Given the description of an element on the screen output the (x, y) to click on. 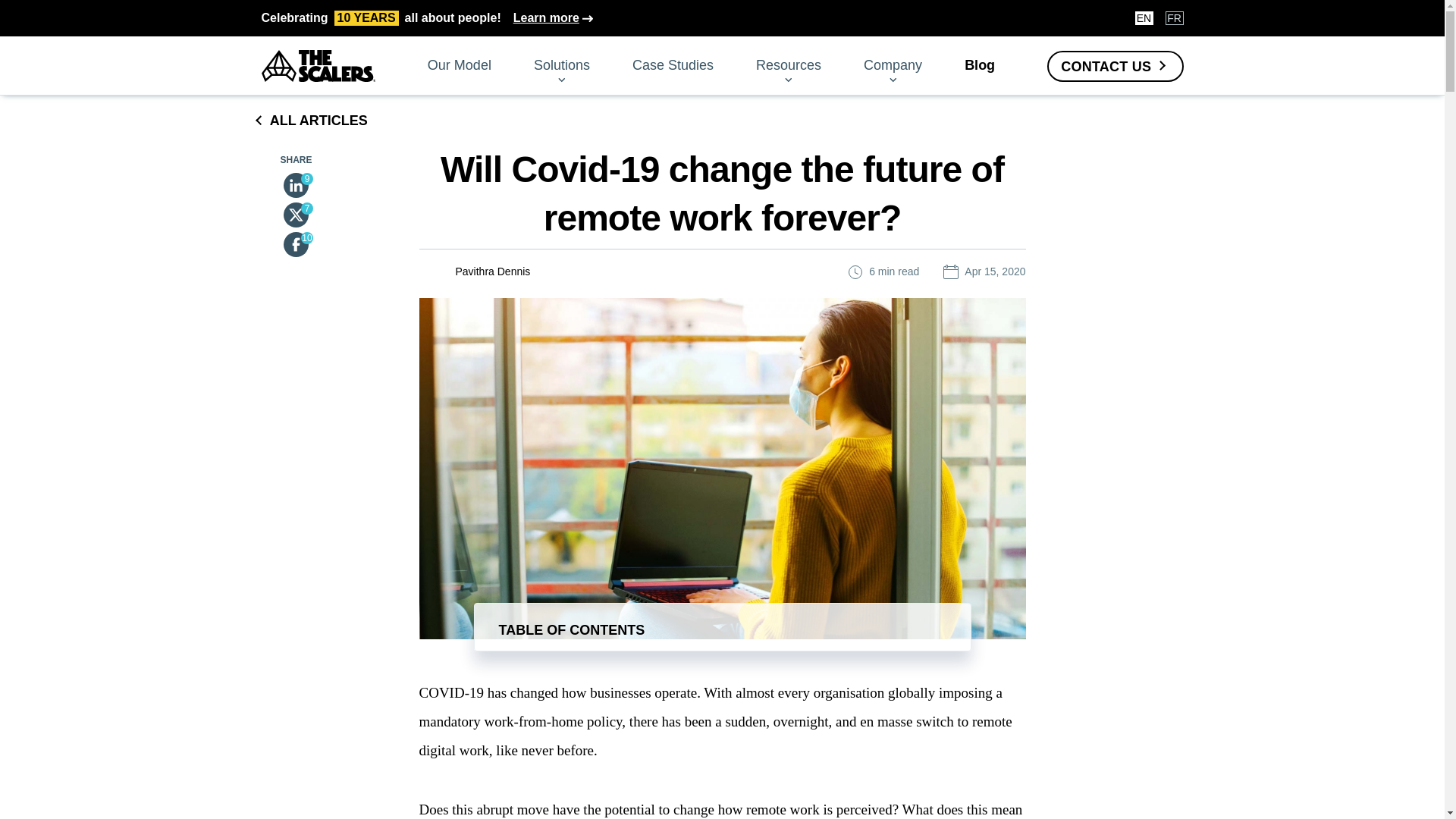
CONTACT US (1114, 65)
FR (1173, 18)
Company (892, 65)
The Scalers Logo (317, 65)
Solutions (561, 65)
Our Model (460, 65)
Case Studies (672, 65)
Resources (788, 65)
EN (426, 18)
